Given the description of an element on the screen output the (x, y) to click on. 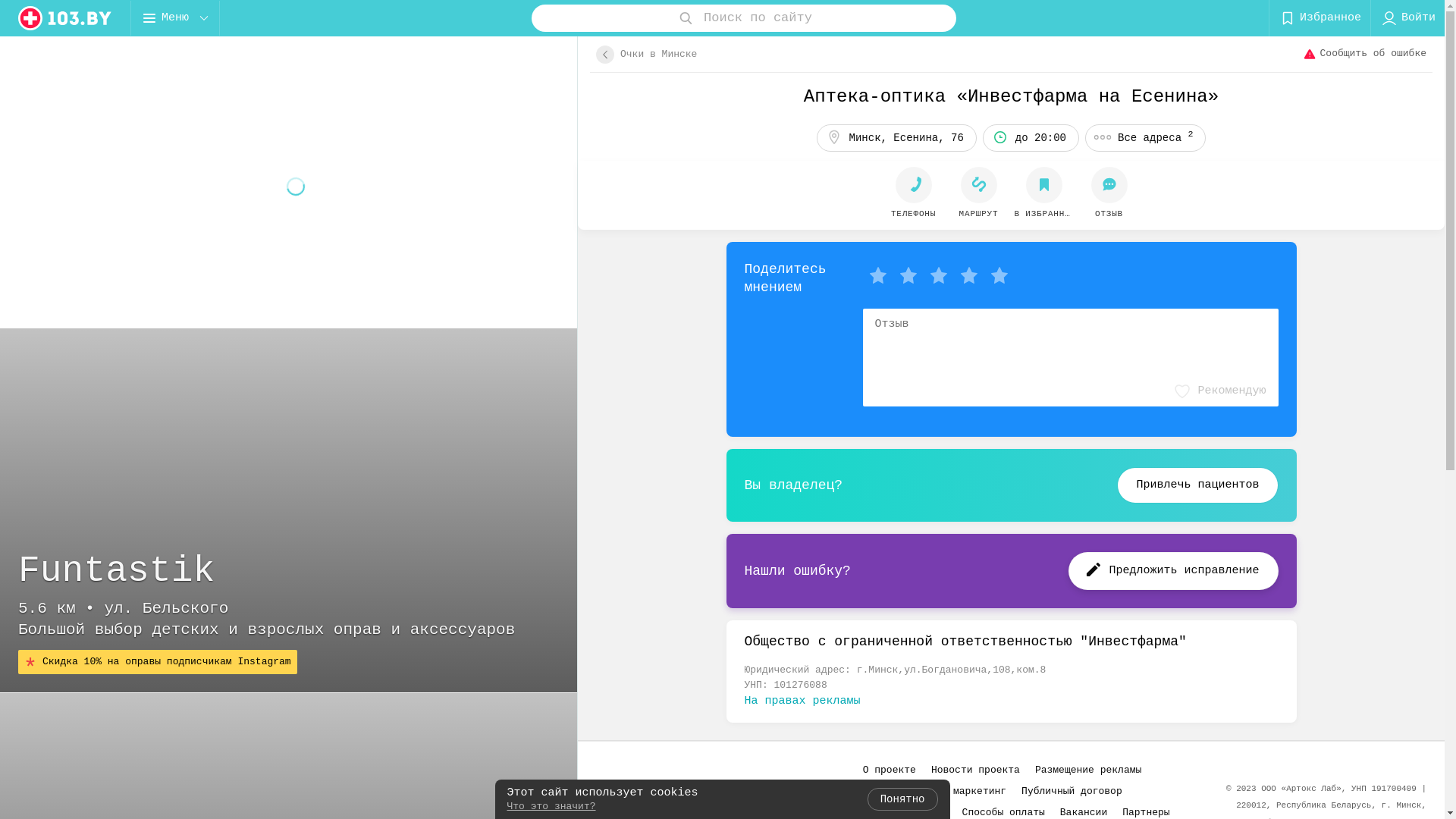
logo Element type: hover (65, 18)
